Given the description of an element on the screen output the (x, y) to click on. 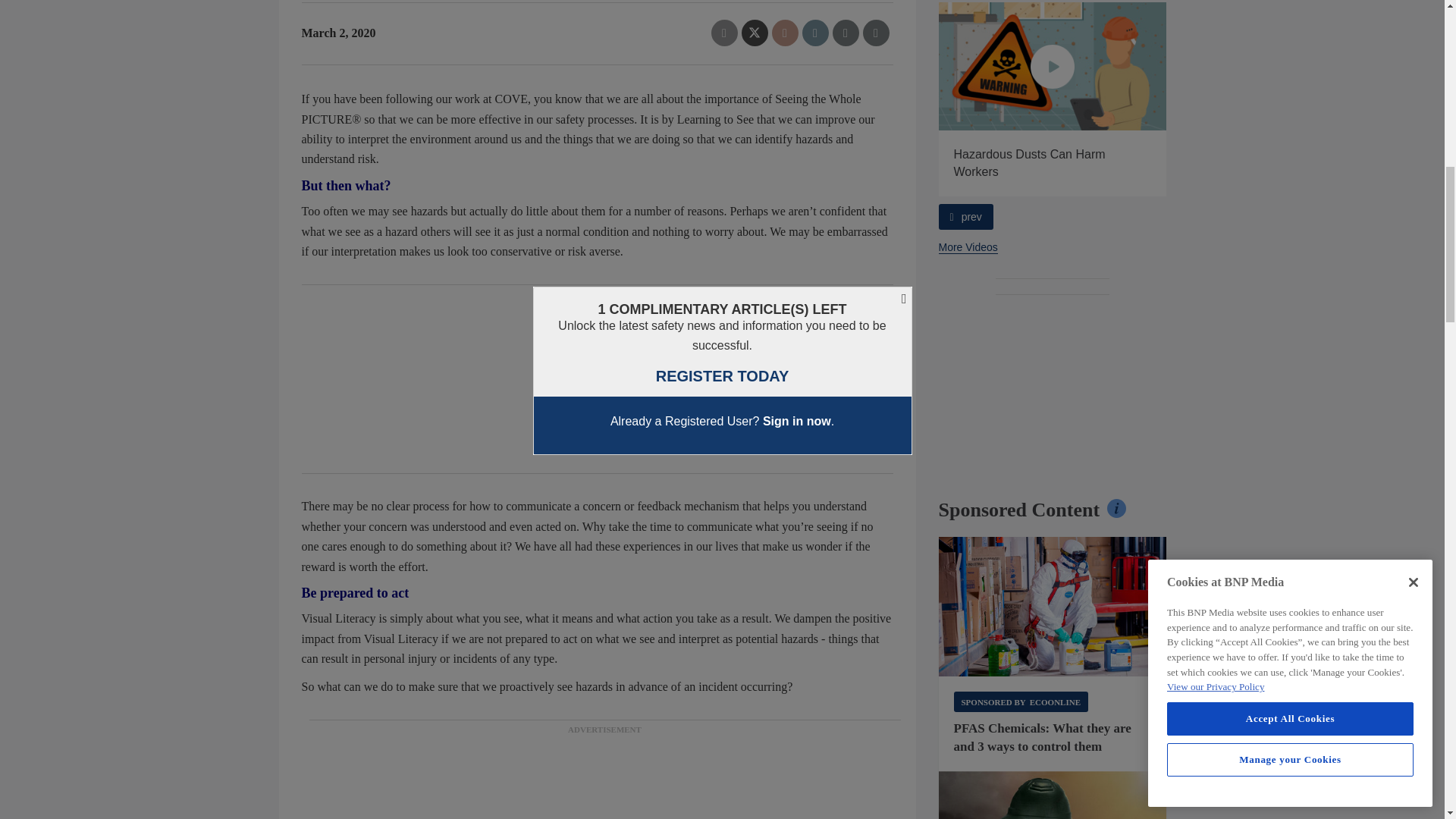
Sponsored by EcoOnline (1021, 701)
chemical safety (1052, 606)
Meet Your New Complete Cleaning Station (825, 66)
man working in summer heat (1052, 795)
Hazardous Dusts Can Harm Workers (1052, 66)
